Given the description of an element on the screen output the (x, y) to click on. 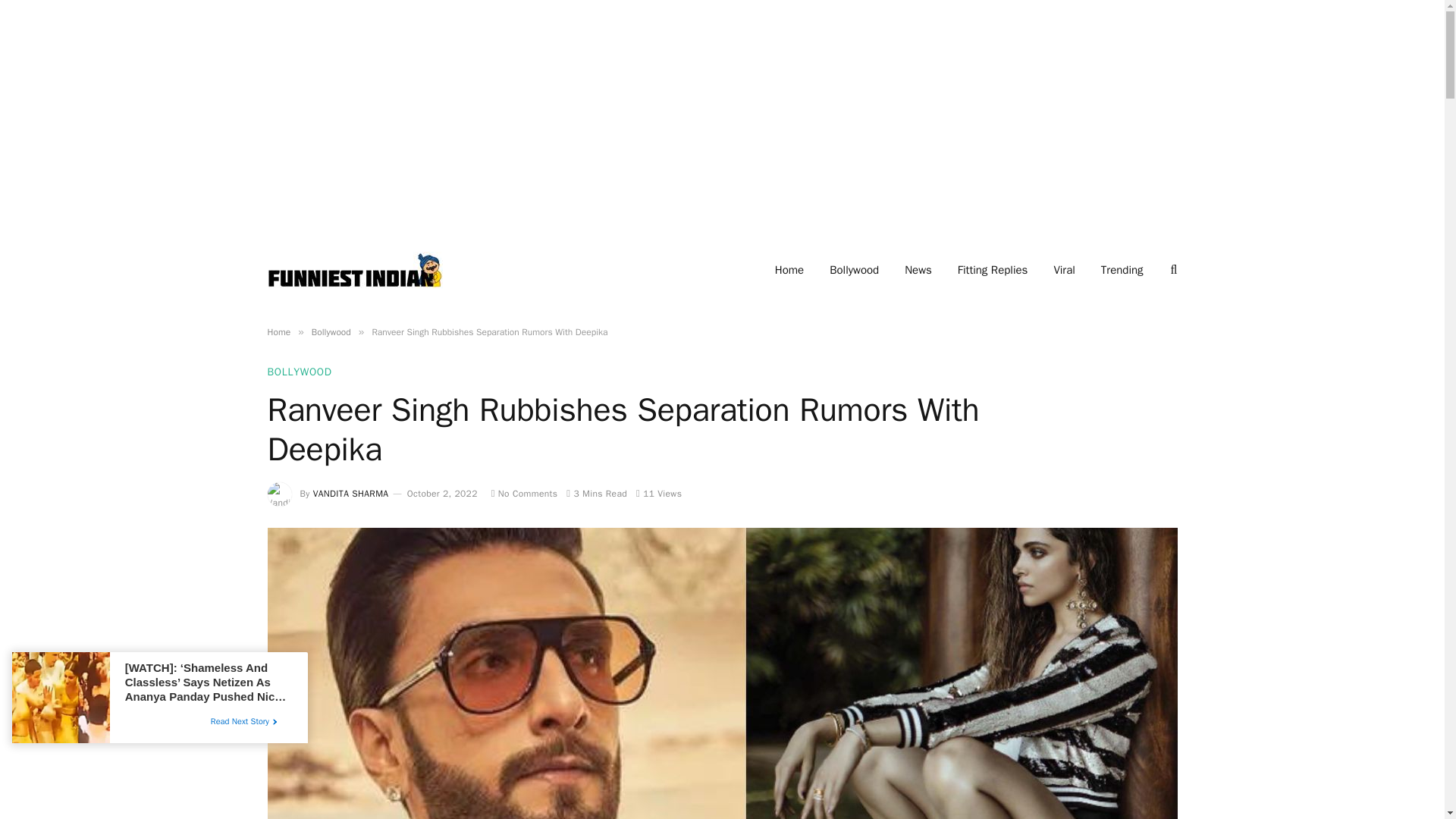
Funniest Indian (354, 270)
News (917, 270)
11 Article Views (658, 493)
Home (277, 331)
Posts by Vandita Sharma (350, 493)
Trending (1121, 270)
No Comments (524, 493)
Fitting Replies (992, 270)
Bollywood (330, 331)
Search (1172, 270)
BOLLYWOOD (298, 371)
Home (788, 270)
Bollywood (853, 270)
